Given the description of an element on the screen output the (x, y) to click on. 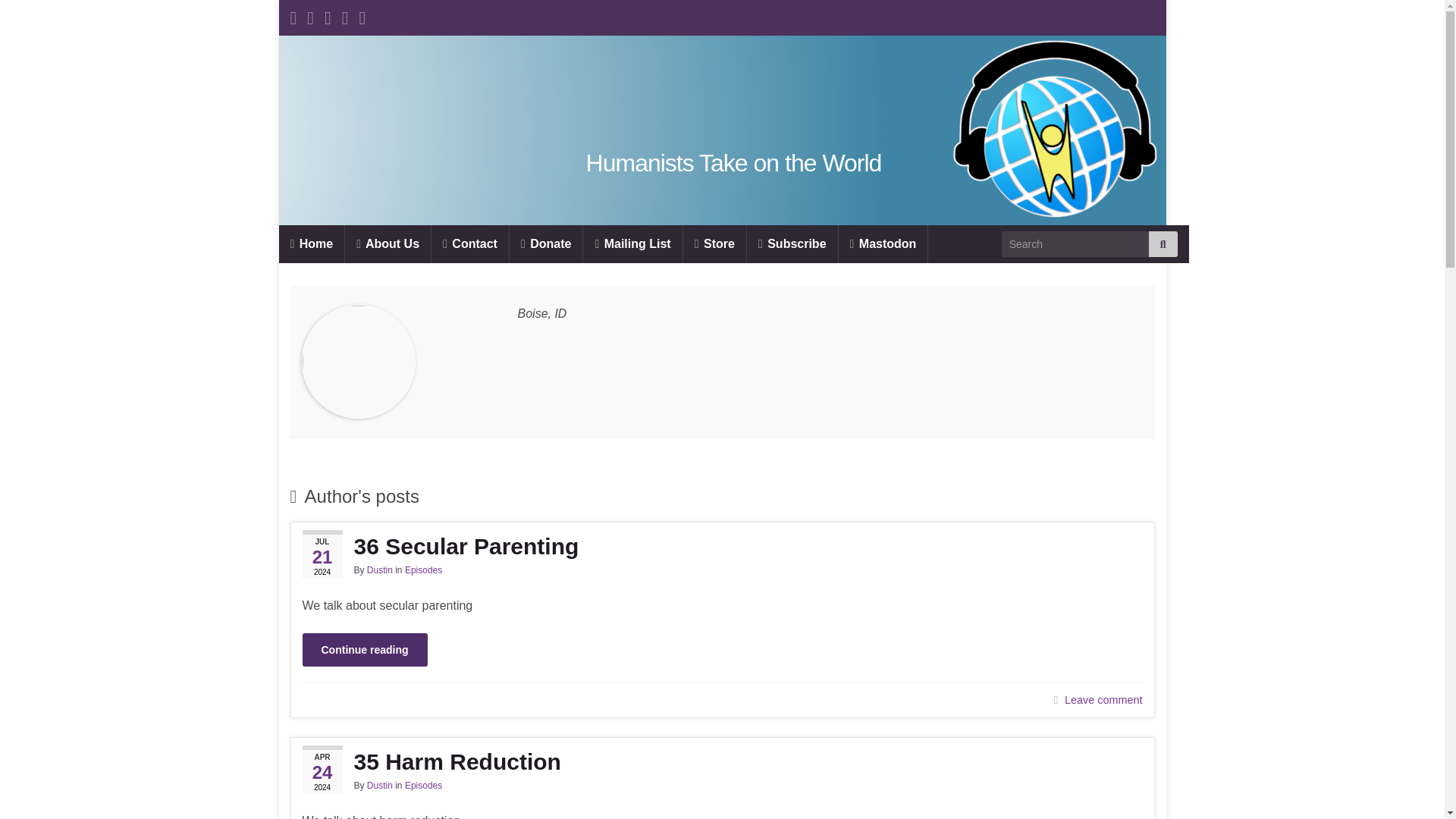
Leave comment (1102, 699)
About Us (387, 243)
Permalink to 35 Harm Reduction (721, 761)
Home (312, 243)
Episodes (423, 570)
Mailing List (632, 243)
Go back to the front page (734, 162)
Humanists Take on the World (734, 162)
Permalink to 36 Secular Parenting (721, 546)
Store (713, 243)
Dustin (379, 570)
36 Secular Parenting (721, 546)
Dustin (379, 785)
Continue reading (363, 649)
